Given the description of an element on the screen output the (x, y) to click on. 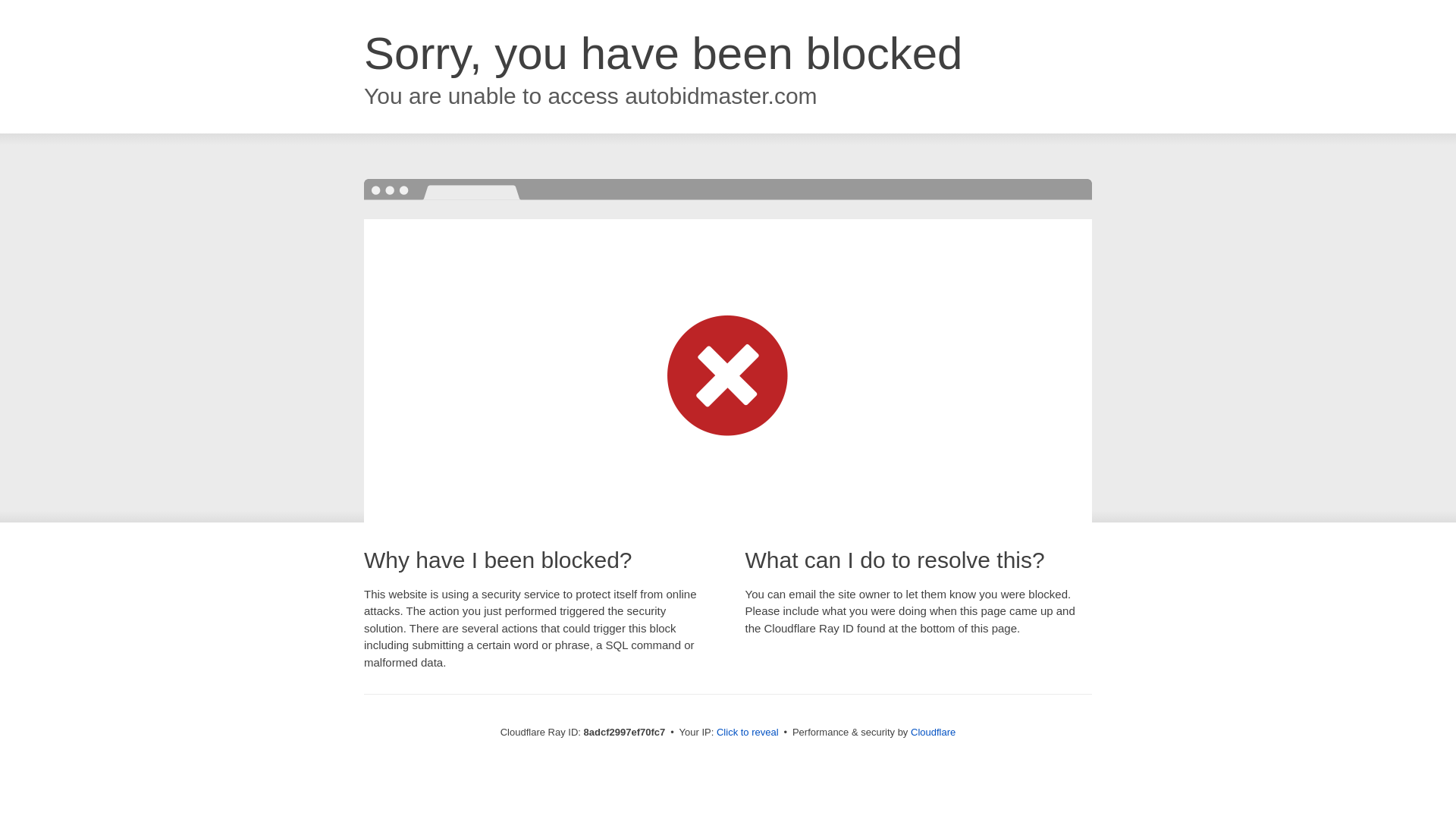
Cloudflare (936, 731)
Click to reveal (750, 732)
